Given the description of an element on the screen output the (x, y) to click on. 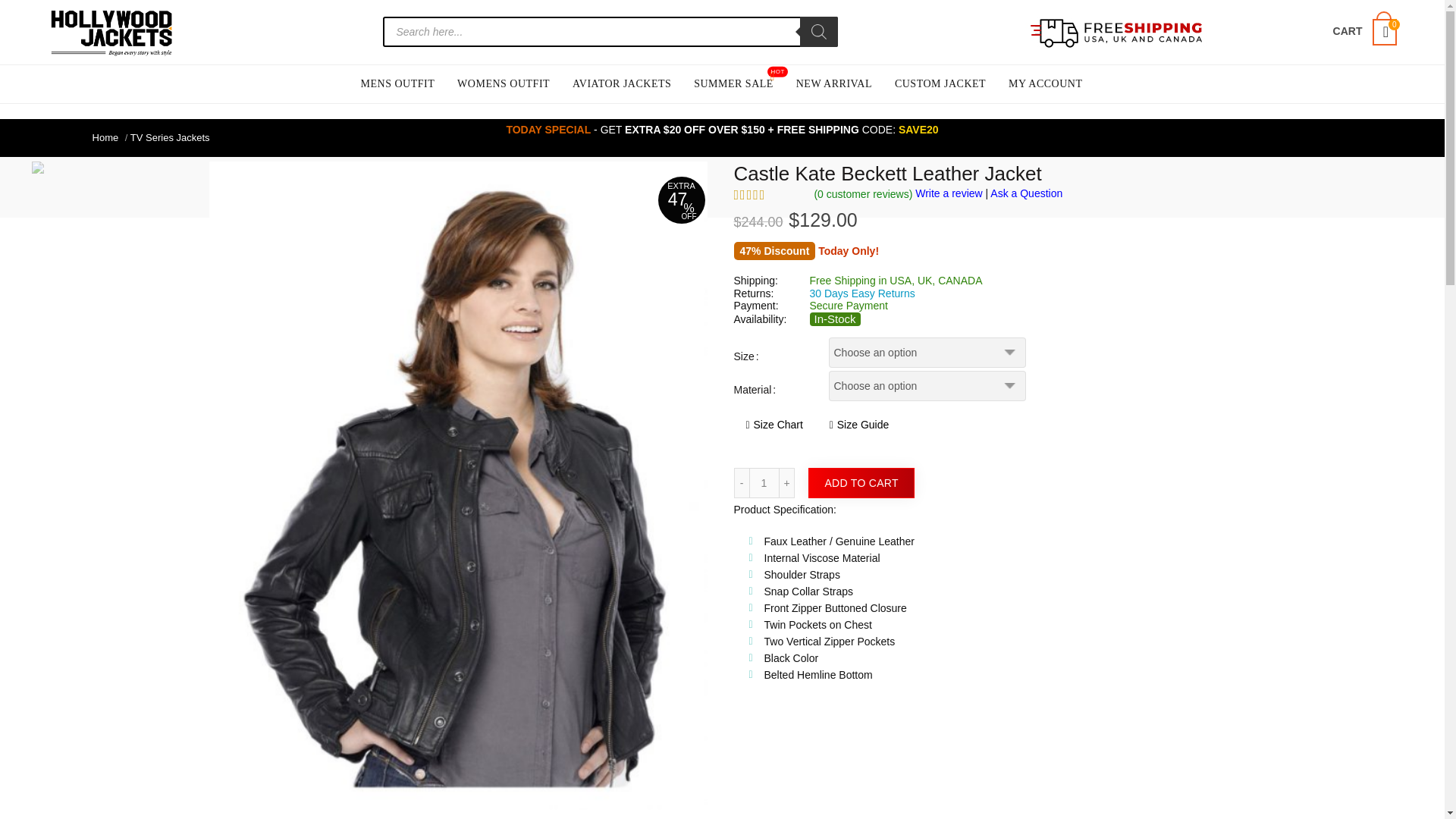
1 (763, 482)
Rated 0 out of 5 (768, 194)
Qty (763, 482)
